Given the description of an element on the screen output the (x, y) to click on. 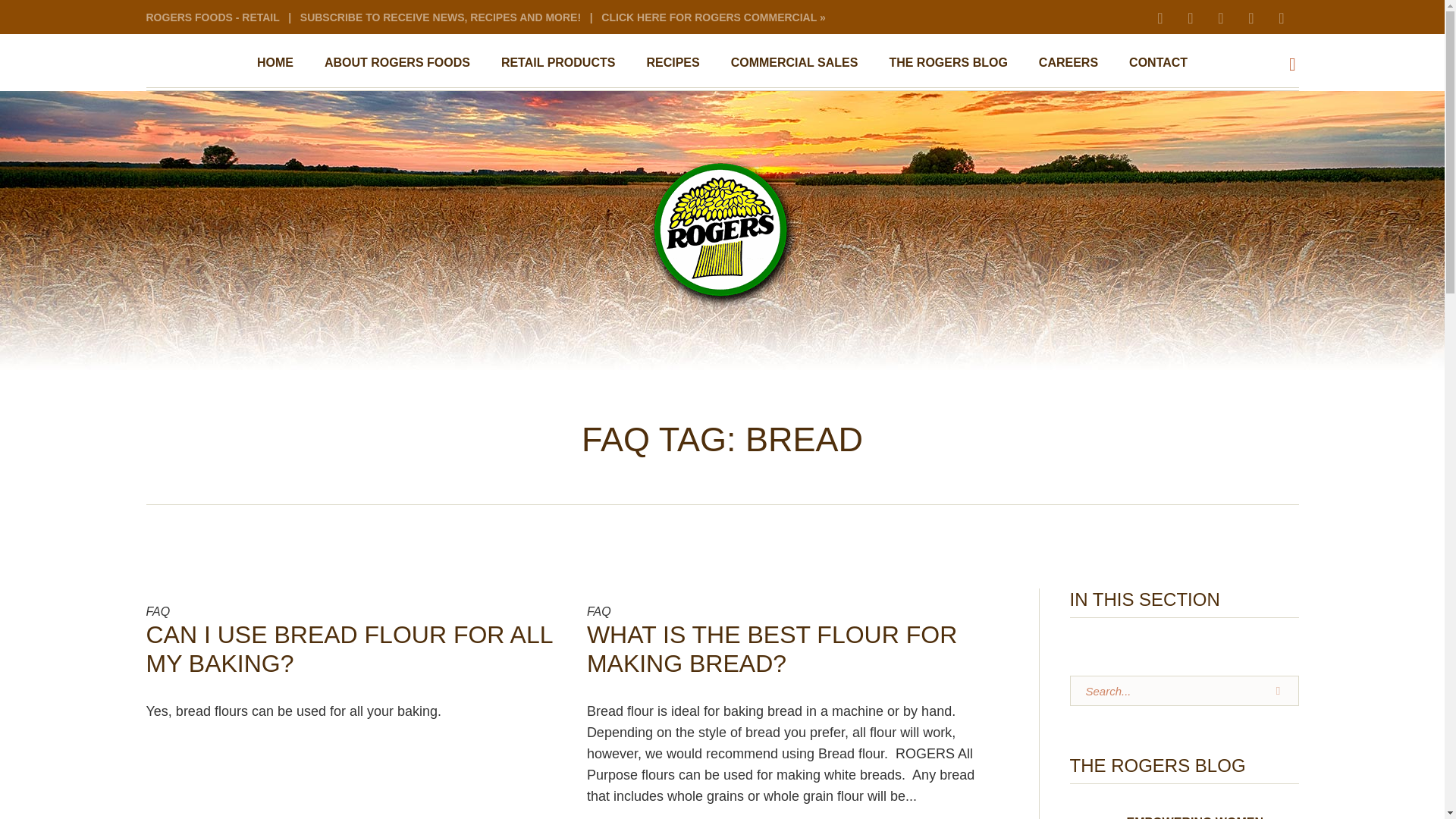
Rogers Foods on YouTube (1190, 17)
RECIPES (672, 62)
HOME (274, 62)
Follow Rogers Foods on Twitter (1281, 17)
Follow Rogers Foods on Facebook (1220, 17)
SUBSCRIBE TO RECEIVE NEWS, RECIPES AND MORE! (439, 16)
Follow Rogers Foods on Instagram (1160, 17)
COMMERCIAL SALES (794, 62)
Visit Rogers Foods on Linkedin (1250, 17)
ABOUT ROGERS FOODS (396, 62)
